Given the description of an element on the screen output the (x, y) to click on. 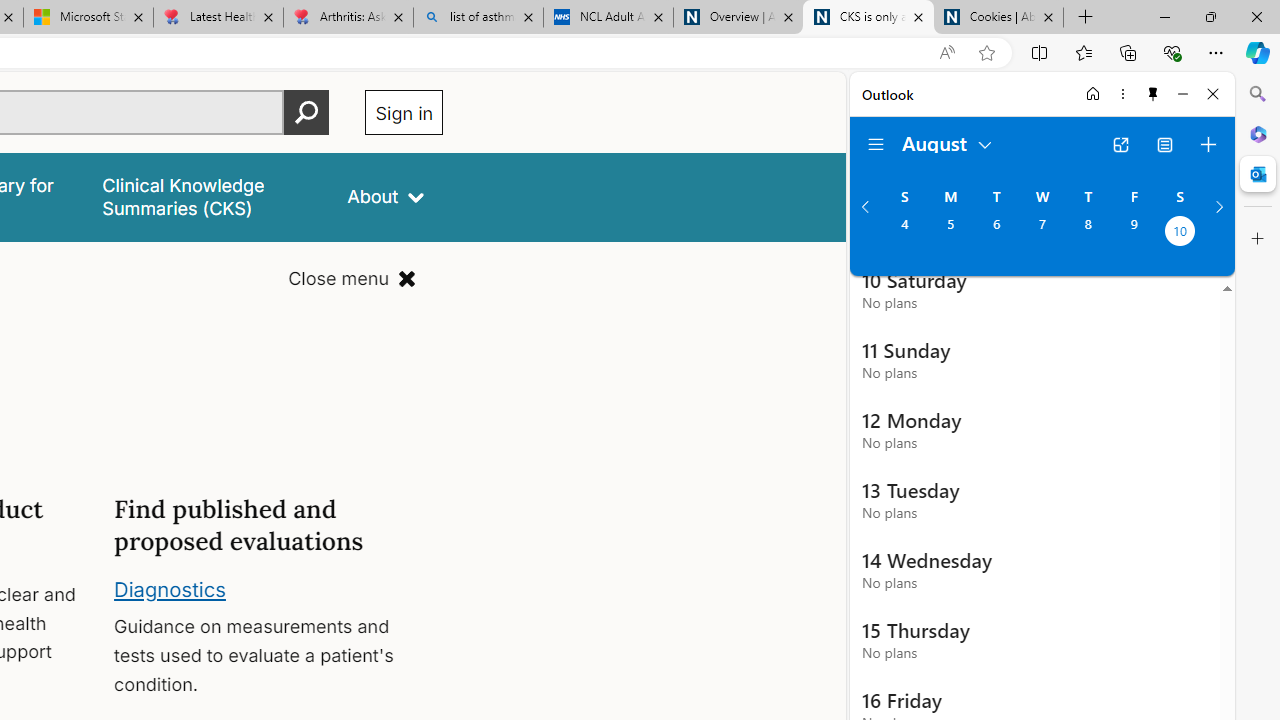
Perform search (307, 112)
View Switcher. Current view is Agenda view (1165, 144)
Thursday, August 8, 2024.  (1088, 233)
Saturday, August 10, 2024. Date selected.  (1180, 233)
Wednesday, August 7, 2024.  (1042, 233)
Close menu (352, 278)
